Given the description of an element on the screen output the (x, y) to click on. 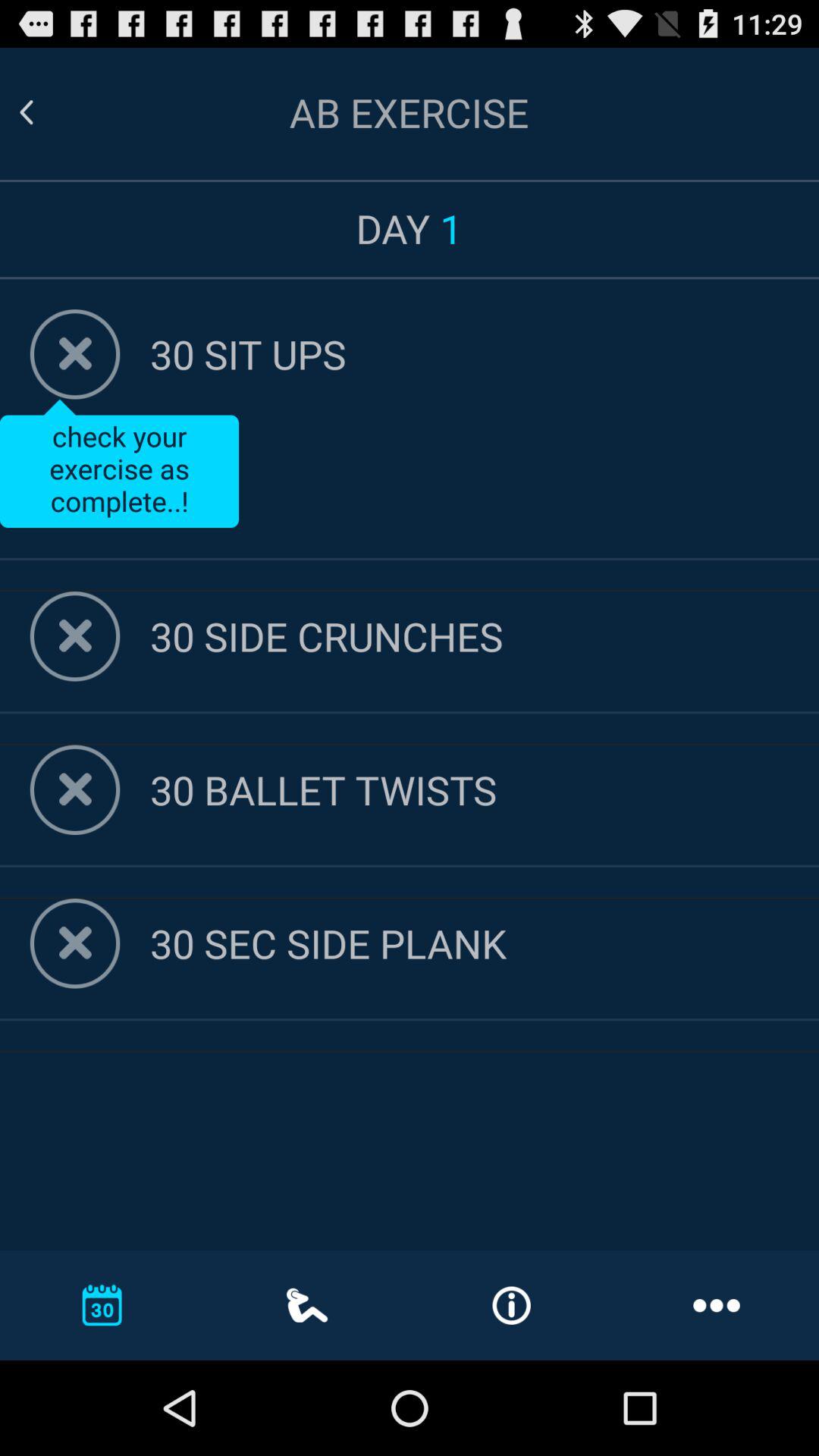
indicates completion (75, 943)
